Given the description of an element on the screen output the (x, y) to click on. 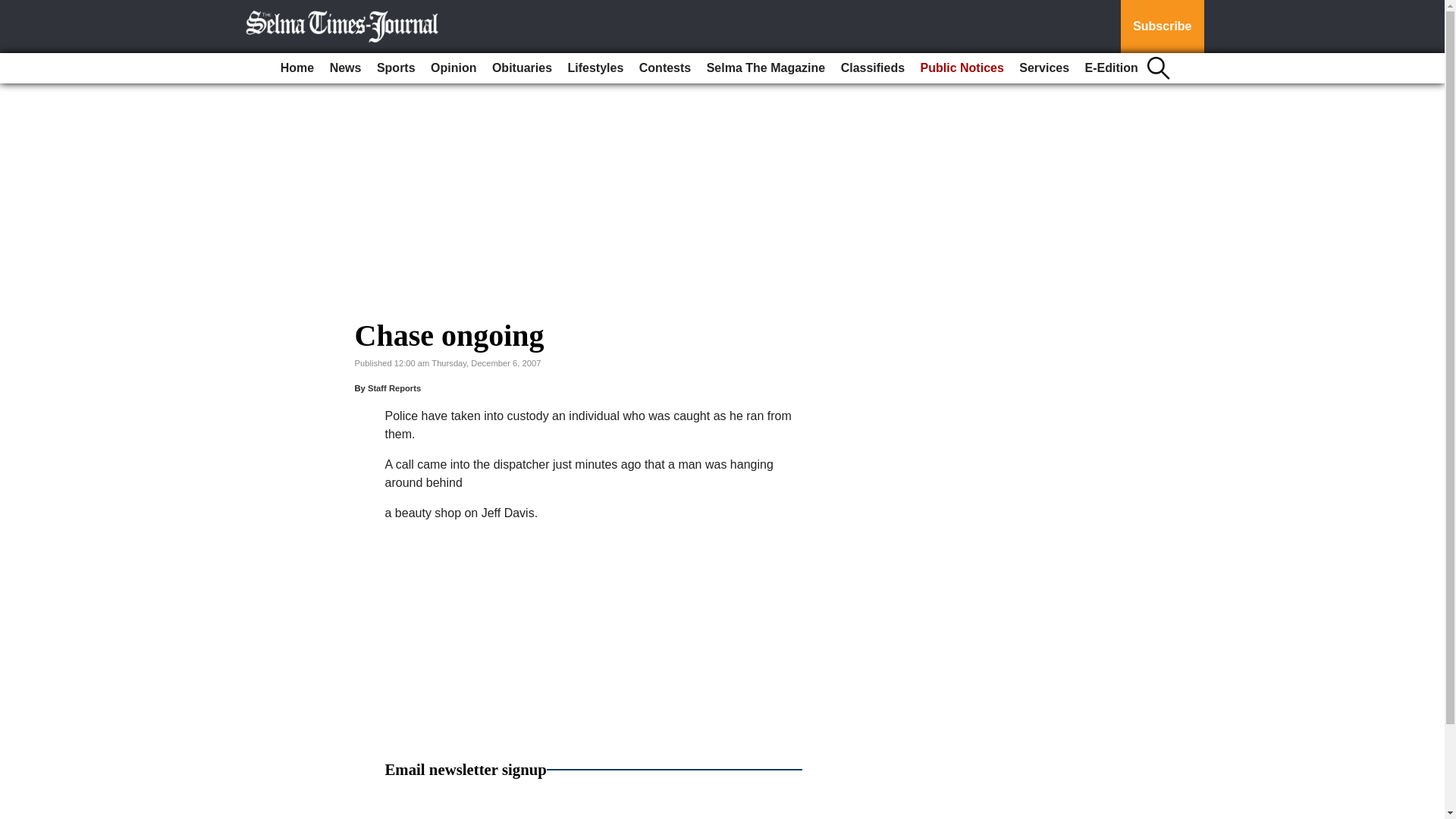
Public Notices (962, 68)
News (345, 68)
Go (13, 9)
Staff Reports (394, 388)
Services (1044, 68)
Selma The Magazine (765, 68)
Home (297, 68)
Classifieds (872, 68)
Lifestyles (596, 68)
Contests (665, 68)
